Given the description of an element on the screen output the (x, y) to click on. 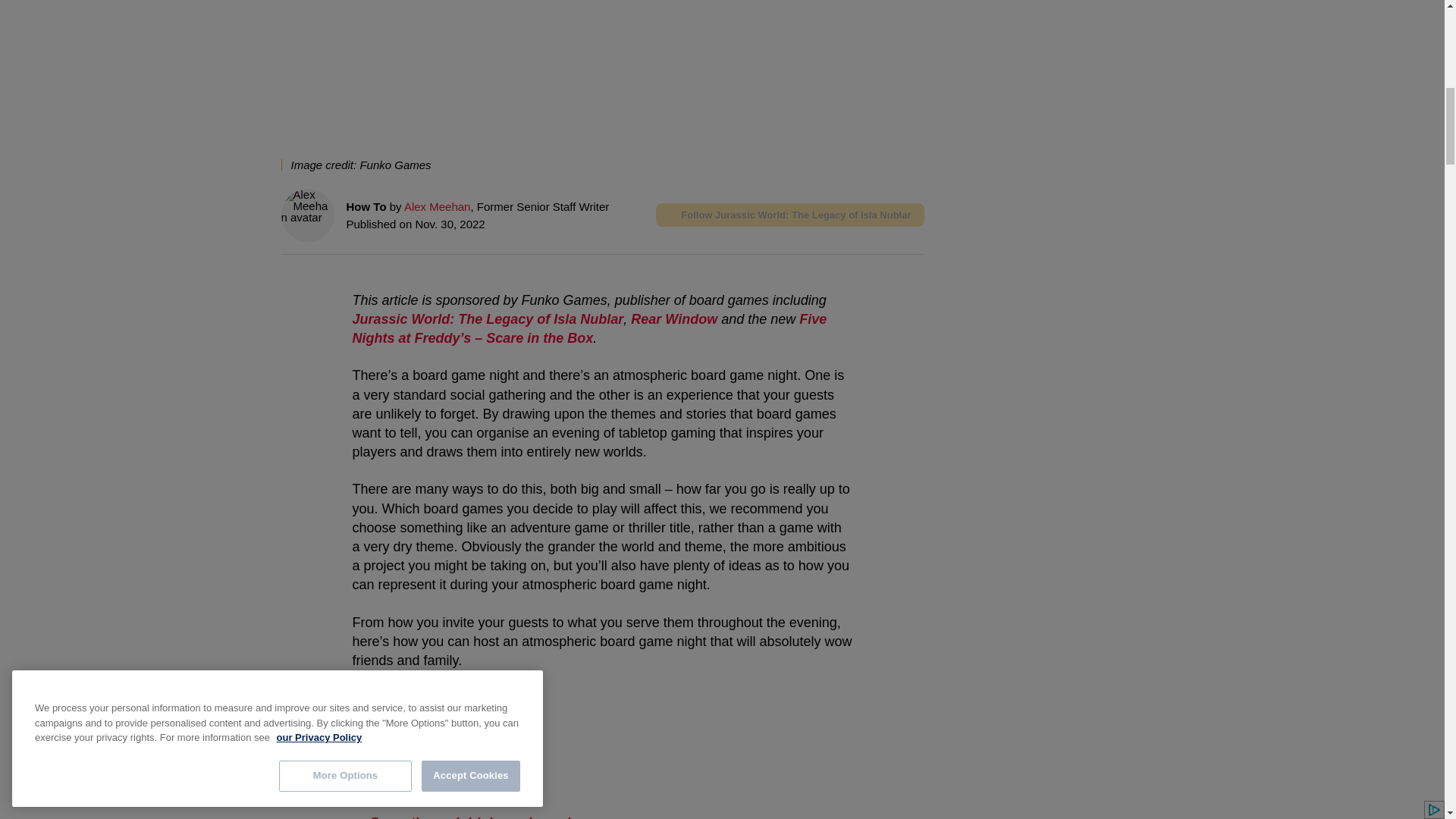
Play atmospheric music (447, 791)
Jurassic World: The Legacy of Isla Nublar (487, 319)
Serve themed drinks and snacks (475, 816)
Wear costumes (419, 759)
Follow Jurassic World: The Legacy of Isla Nublar (789, 214)
Alex Meehan (437, 205)
Send themed invitations (448, 697)
Rear Window (673, 319)
Decorate your home (435, 728)
